Given the description of an element on the screen output the (x, y) to click on. 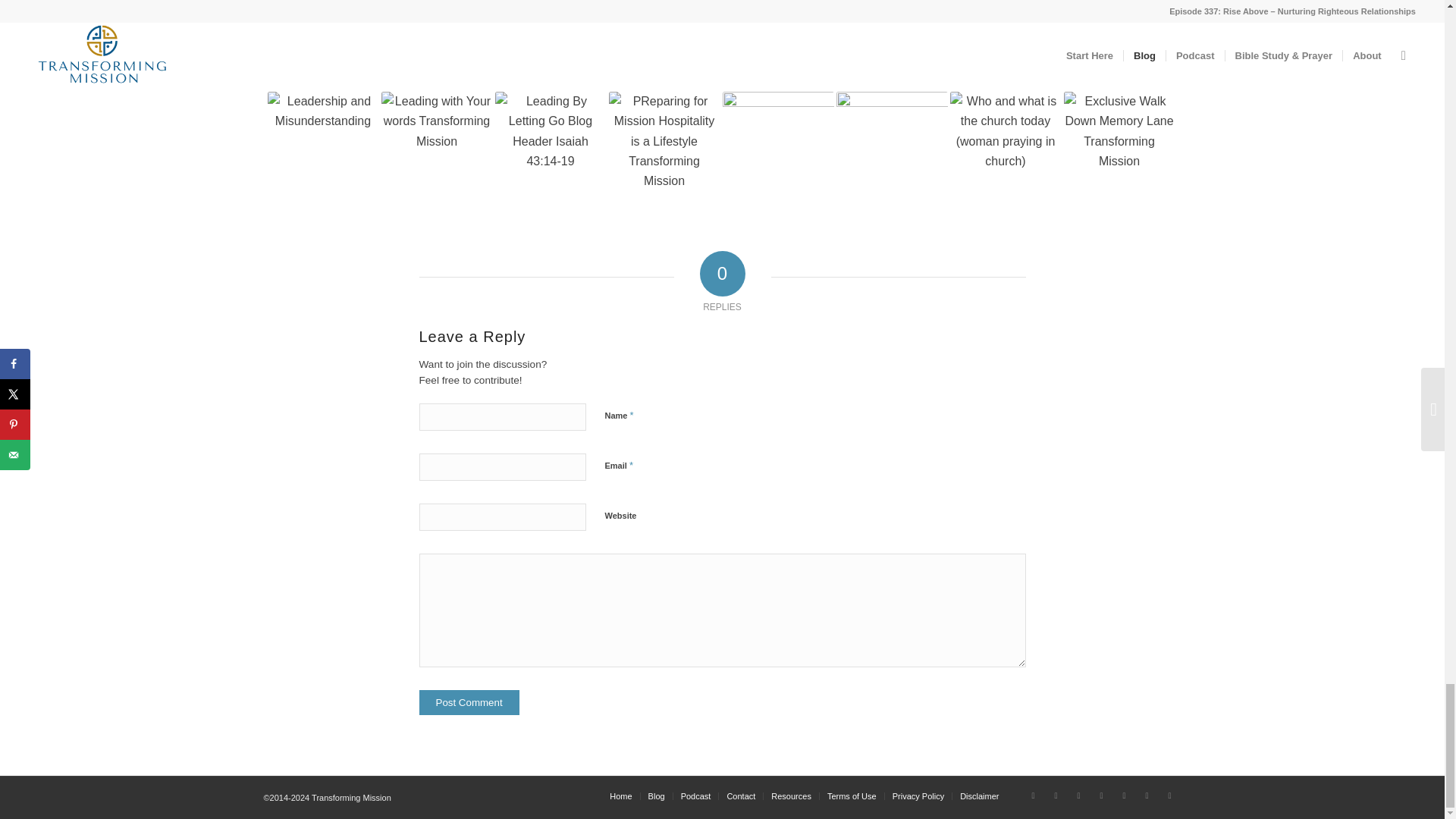
Post Comment (468, 702)
Leading by Letting Go (550, 147)
Preparing for Mission: Hospitality is a Lifestyle (663, 147)
Post Comment (468, 702)
Leadership and Misunderstanding (322, 147)
Leading with Your Words (436, 147)
